Given the description of an element on the screen output the (x, y) to click on. 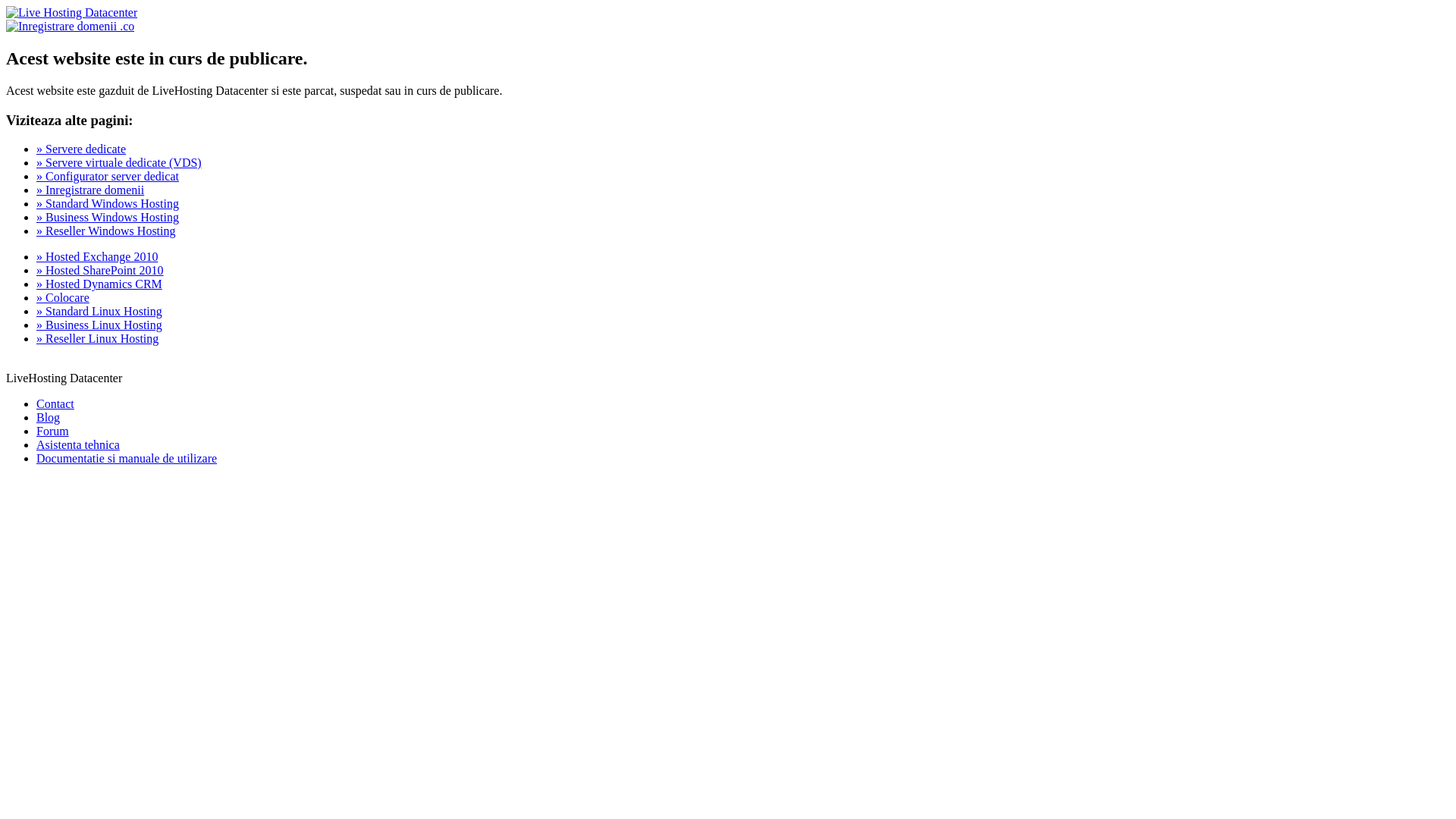
Contact Element type: text (55, 403)
Documentatie si manuale de utilizare Element type: text (126, 457)
Asistenta tehnica Element type: text (77, 444)
Blog Element type: text (47, 417)
Forum Element type: text (52, 430)
